Given the description of an element on the screen output the (x, y) to click on. 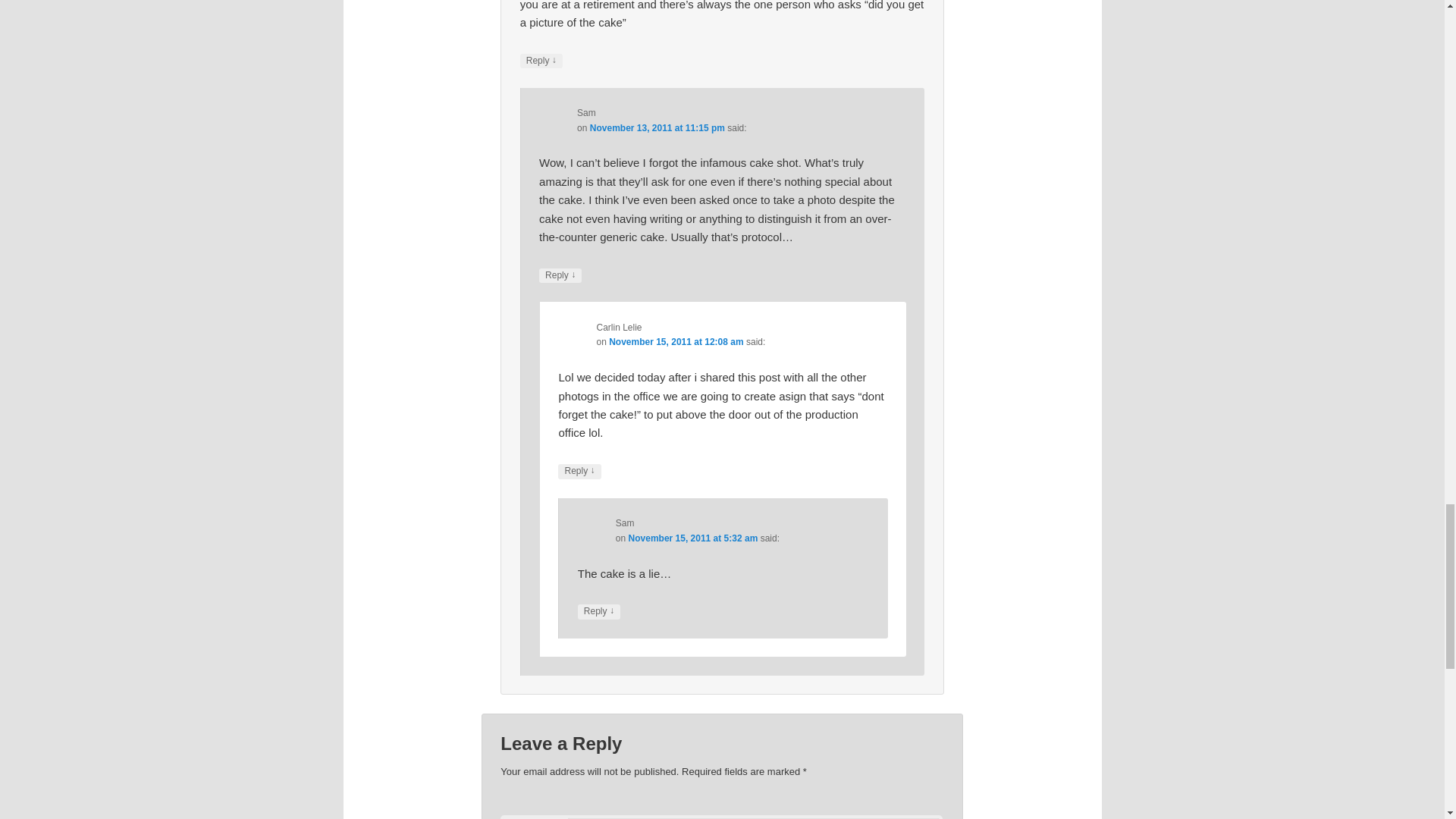
November 13, 2011 at 11:15 pm (657, 127)
